Given the description of an element on the screen output the (x, y) to click on. 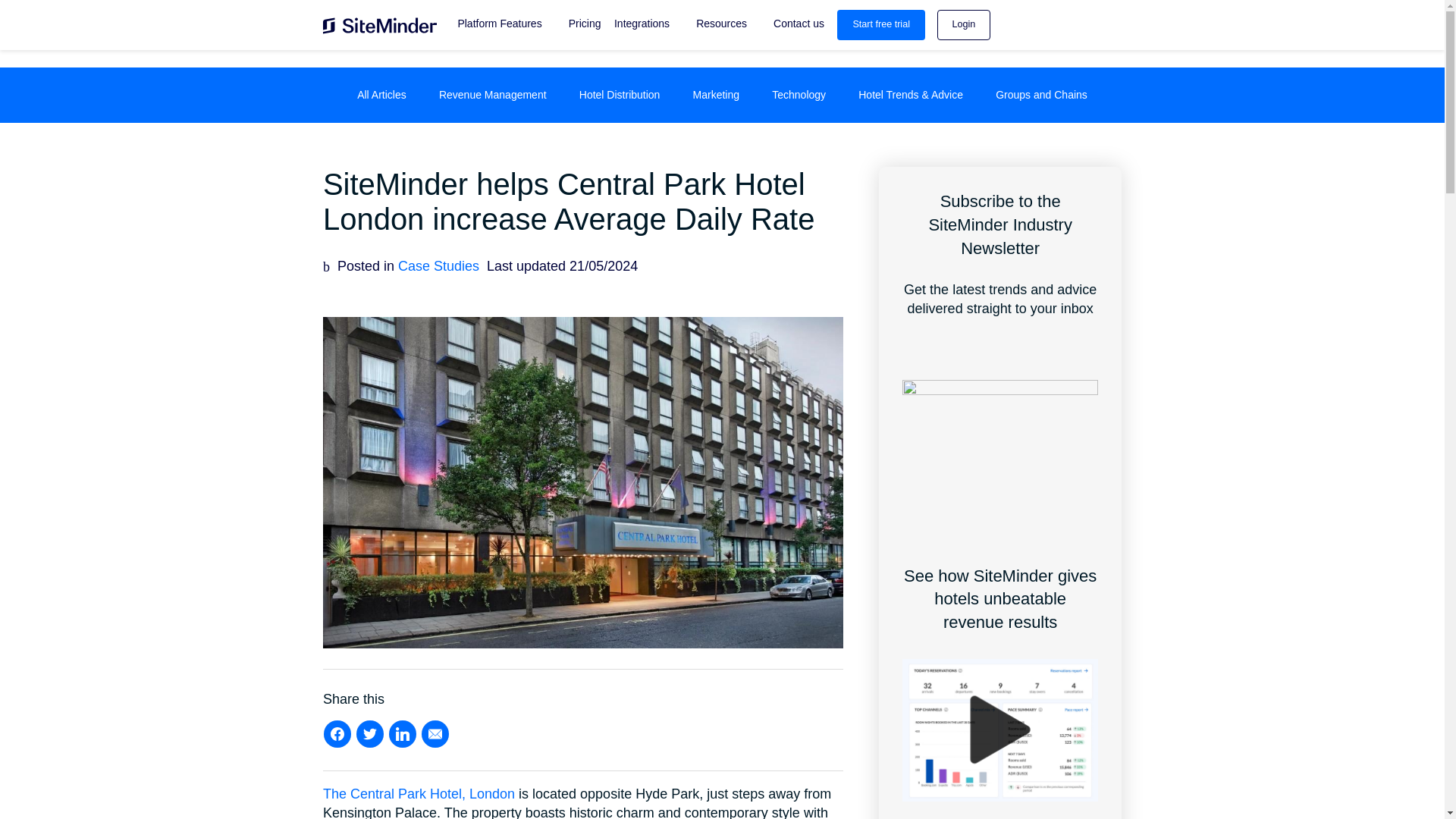
Integrations (640, 23)
Share on Email (434, 733)
Visit the home page (379, 30)
Share on Facebook (337, 733)
Pricing (576, 23)
Share on LinkedIn (402, 733)
Resources (721, 23)
Platform Features (499, 23)
Share on Twitter (369, 733)
